Given the description of an element on the screen output the (x, y) to click on. 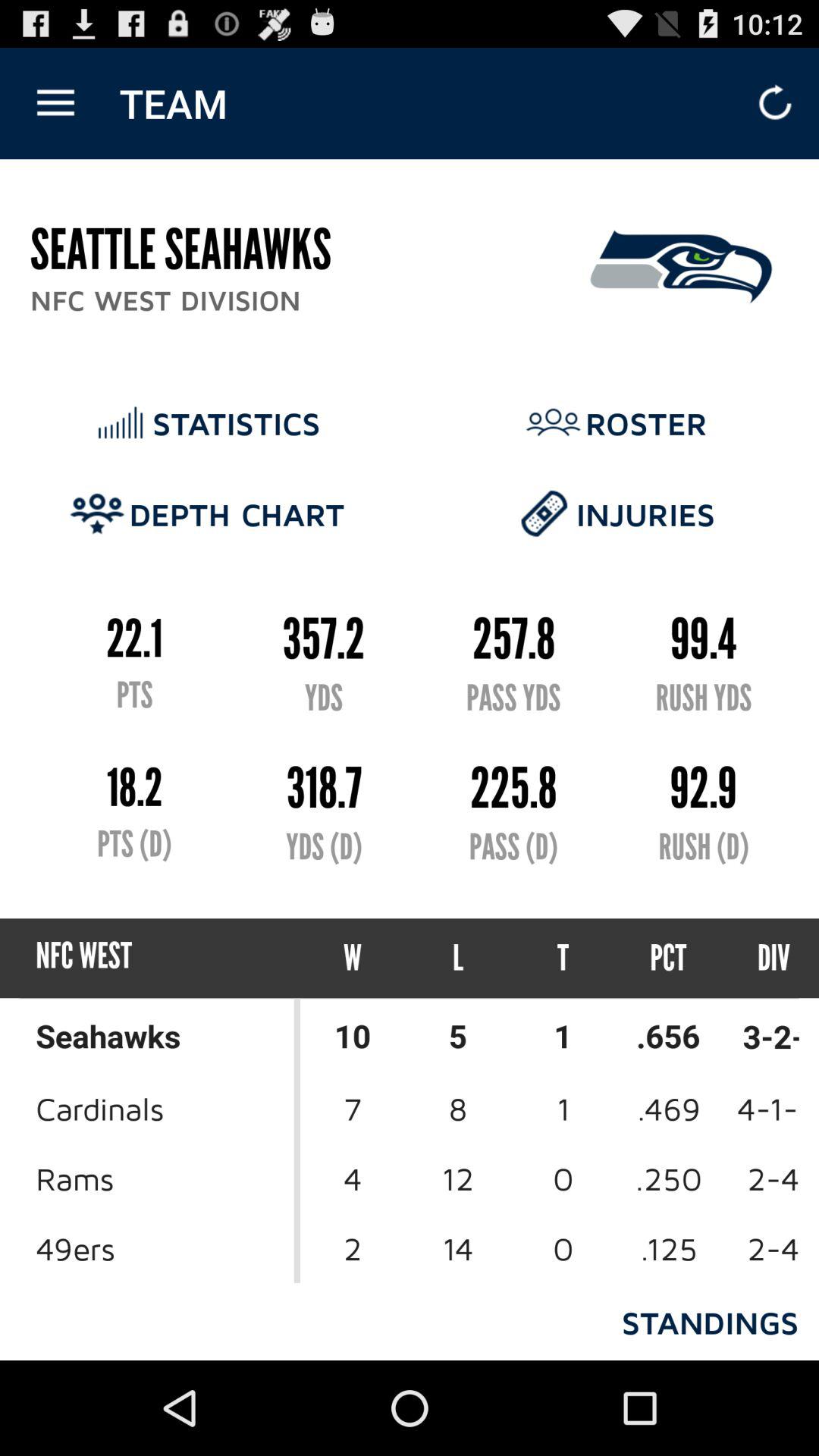
launch icon to the right of t icon (668, 958)
